Given the description of an element on the screen output the (x, y) to click on. 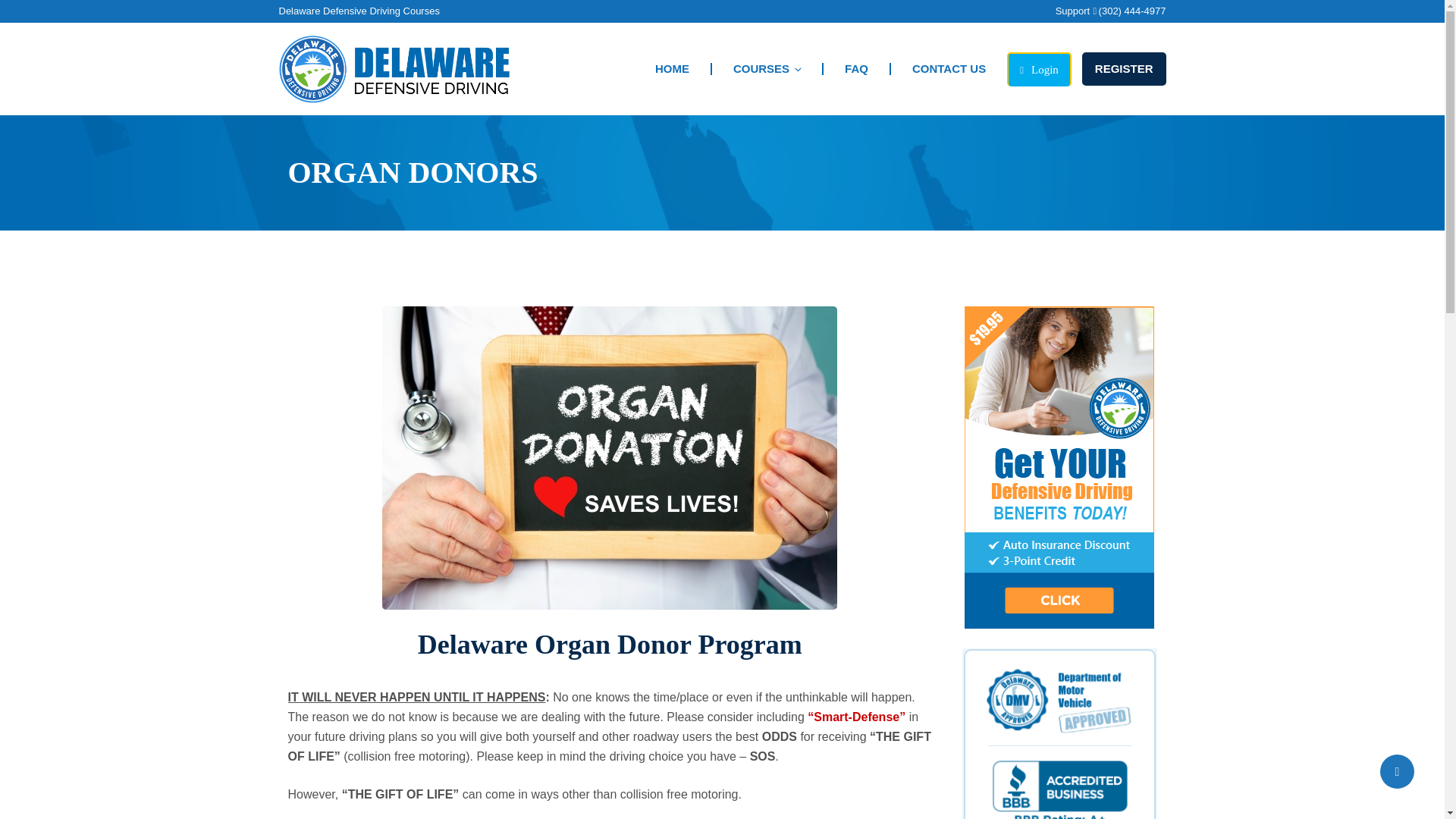
Login (1039, 69)
COURSES (766, 68)
CONTACT US (948, 68)
REGISTER (1123, 68)
